Given the description of an element on the screen output the (x, y) to click on. 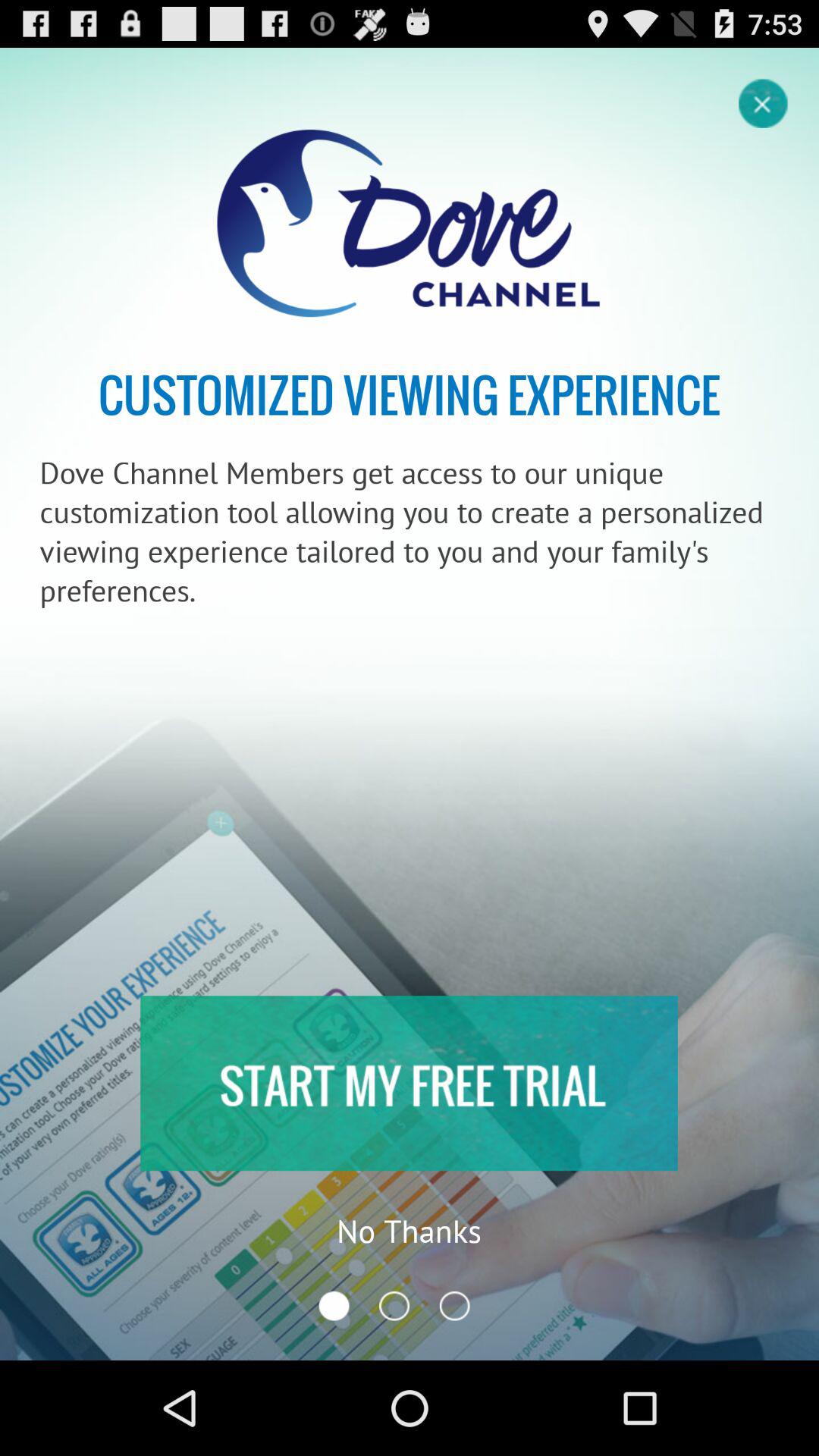
start your free trial (408, 1083)
